Given the description of an element on the screen output the (x, y) to click on. 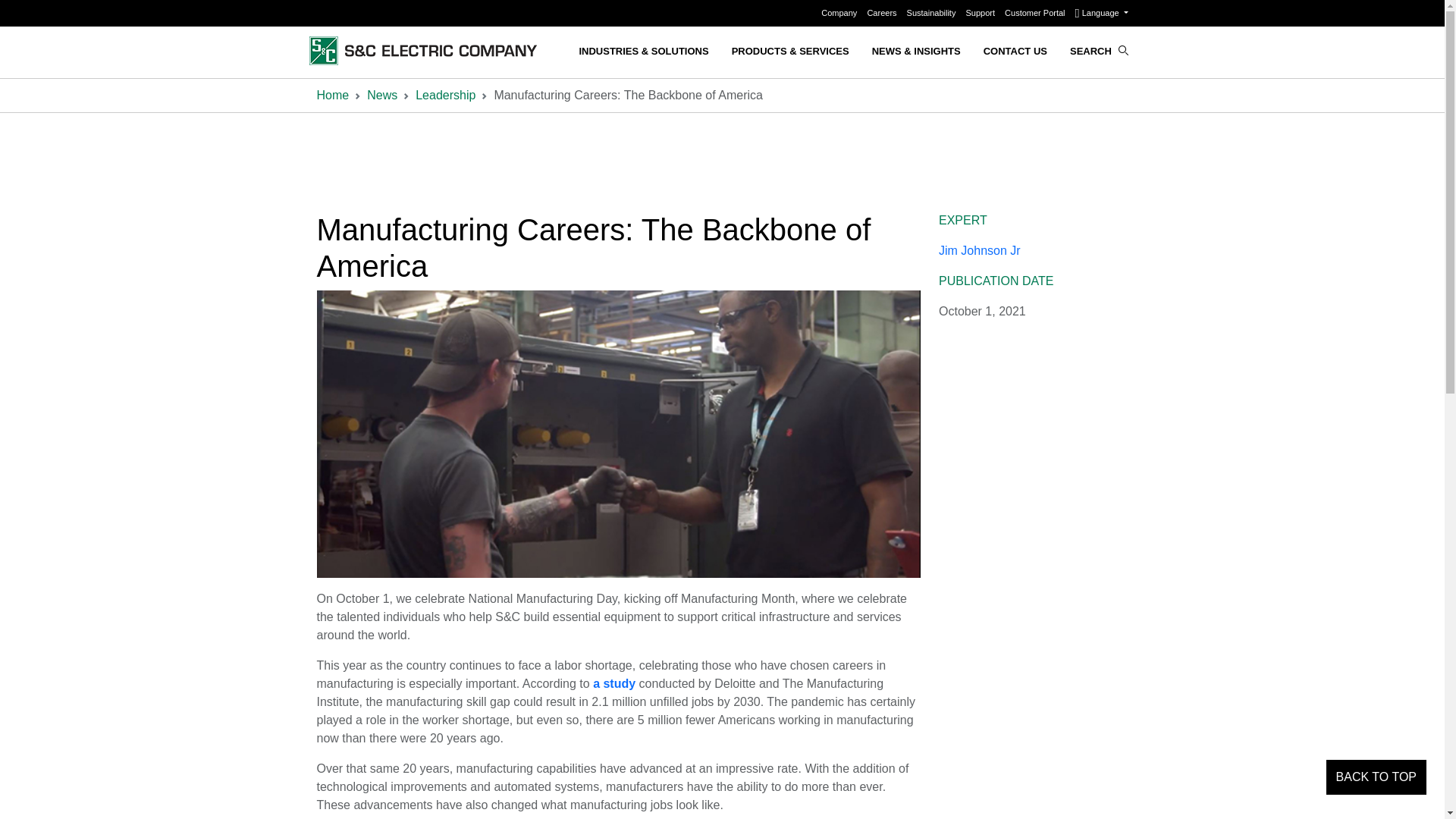
Sustainability (932, 12)
Company (840, 12)
Language (1101, 12)
Careers (882, 12)
Customer Portal (1035, 12)
Support (981, 12)
